Given the description of an element on the screen output the (x, y) to click on. 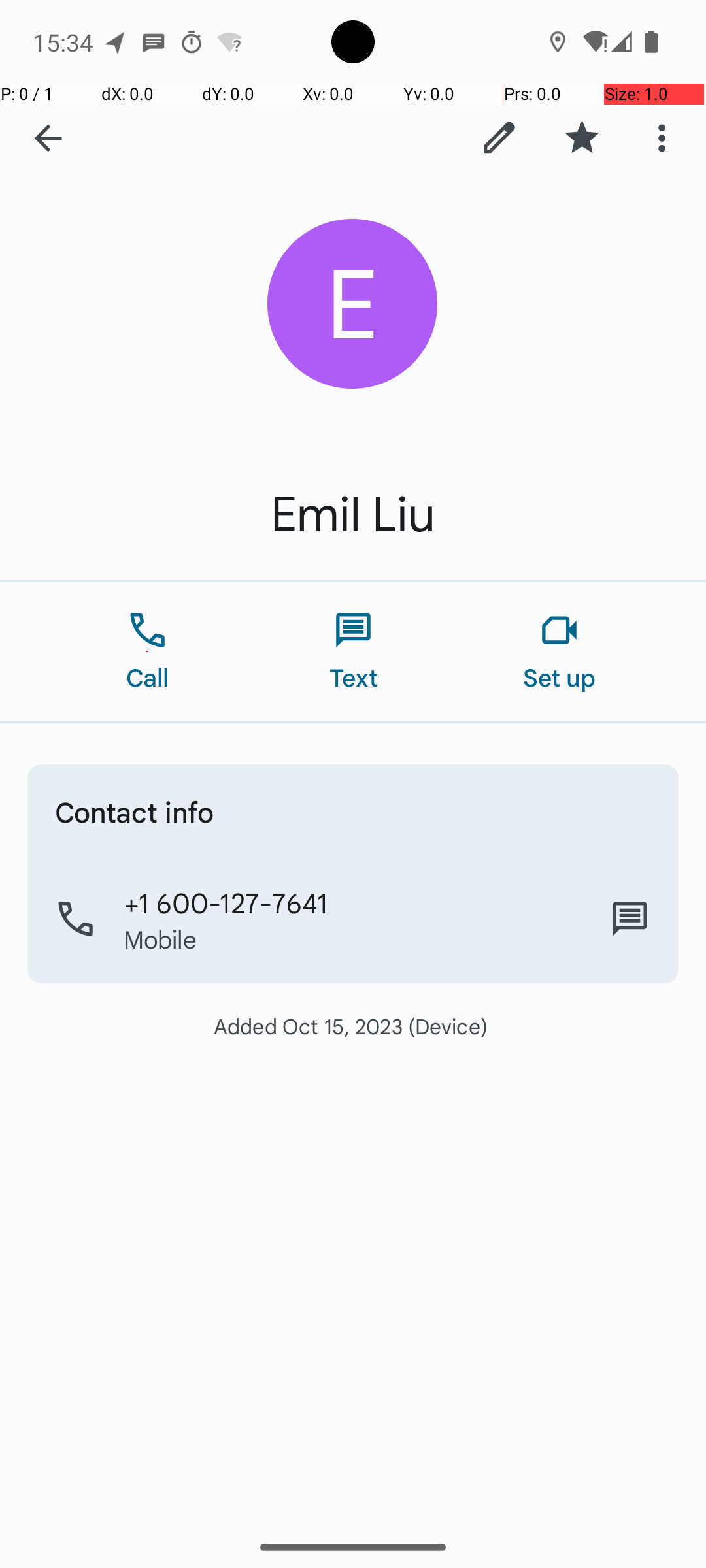
Emil Liu Element type: android.widget.TextView (352, 514)
Call Mobile +1 600-127-7641 Element type: android.widget.RelativeLayout (352, 919)
Added Oct 15, 2023 (Device)  Element type: android.widget.TextView (352, 1025)
+1 600-127-7641 Element type: android.widget.TextView (225, 901)
Text Mobile +1 600-127-7641 Element type: android.widget.Button (629, 919)
